Given the description of an element on the screen output the (x, y) to click on. 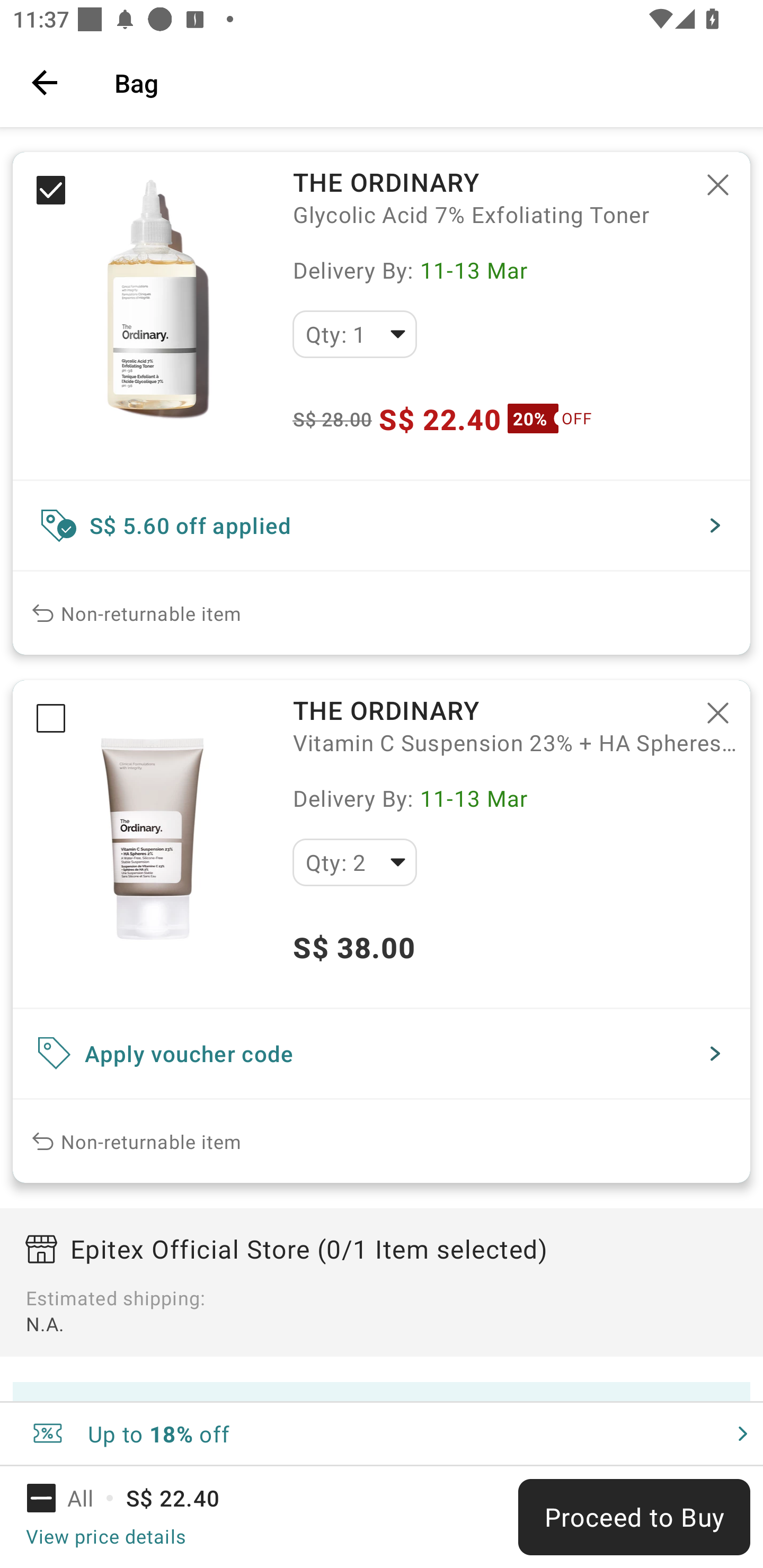
Navigate up (44, 82)
Bag (426, 82)
Qty: 1 (354, 333)
S$ 5.60 off applied (381, 525)
Qty: 2 (354, 861)
Apply voucher code (381, 1053)
Up to 18% off (381, 1433)
All (72, 1497)
Proceed to Buy (634, 1516)
View price details (105, 1535)
